Given the description of an element on the screen output the (x, y) to click on. 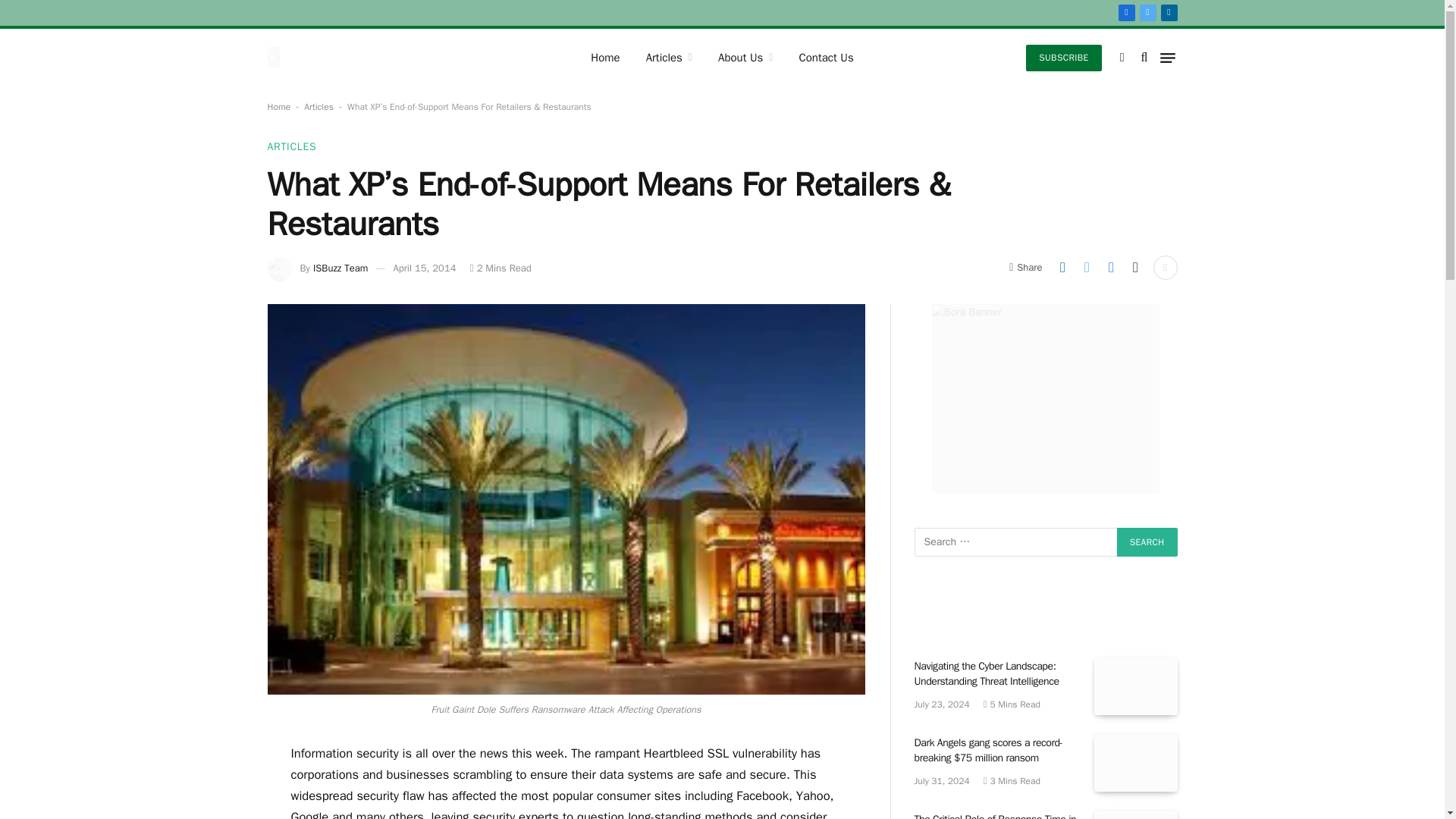
Share on LinkedIn (1062, 267)
Copy Link (1135, 267)
Share on Facebook (1110, 267)
Show More Social Sharing (1164, 267)
Information Security Buzz (281, 56)
Search (1146, 541)
Search (1146, 541)
Switch to Dark Design - easier on eyes. (1122, 57)
Posts by ISBuzz Team (340, 267)
